Given the description of an element on the screen output the (x, y) to click on. 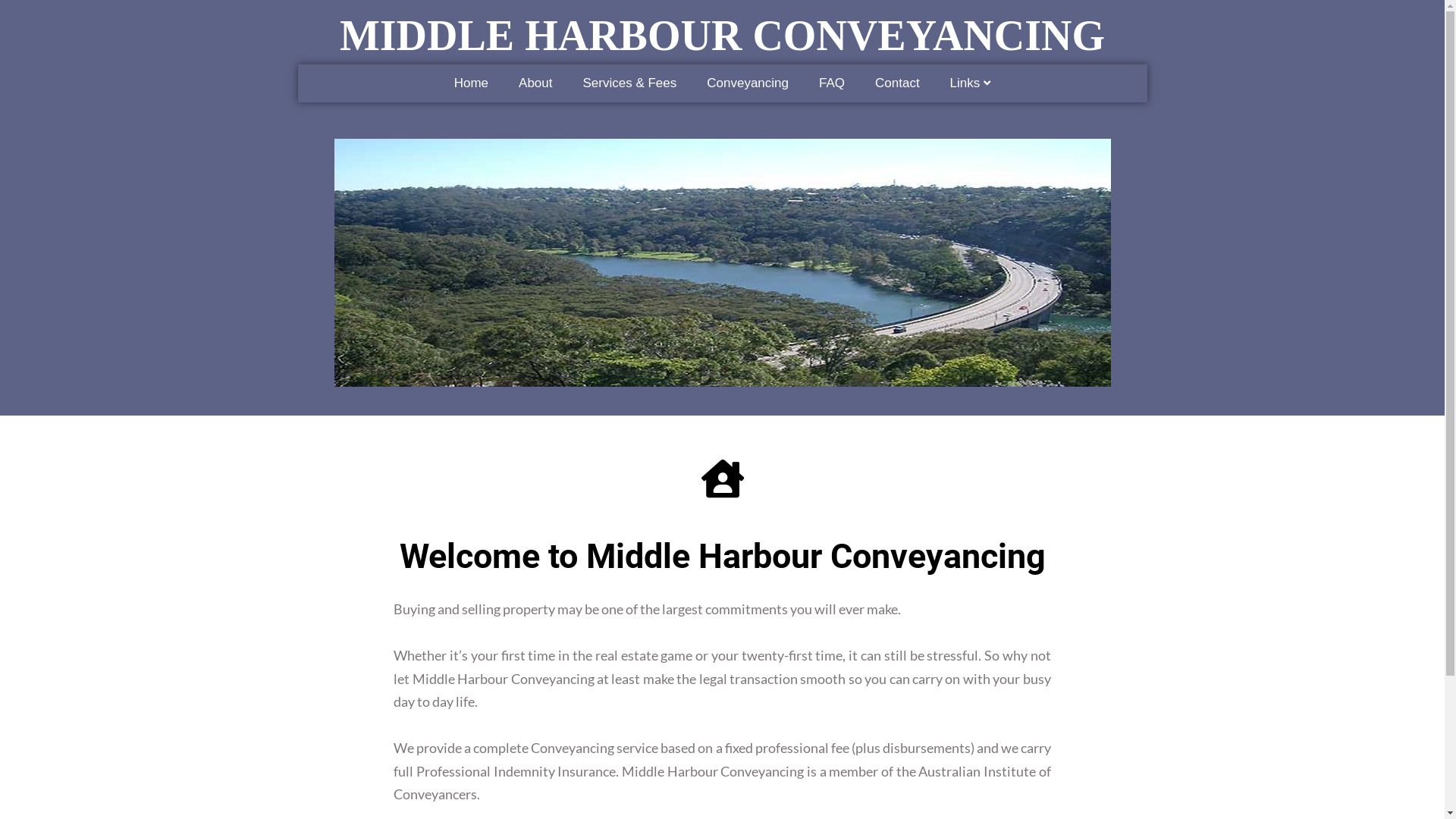
FAQ Element type: text (831, 83)
Services & Fees Element type: text (629, 83)
Links Element type: text (970, 83)
Conveyancing Element type: text (747, 83)
About Element type: text (535, 83)
Home Element type: text (471, 83)
Contact Element type: text (897, 83)
